Given the description of an element on the screen output the (x, y) to click on. 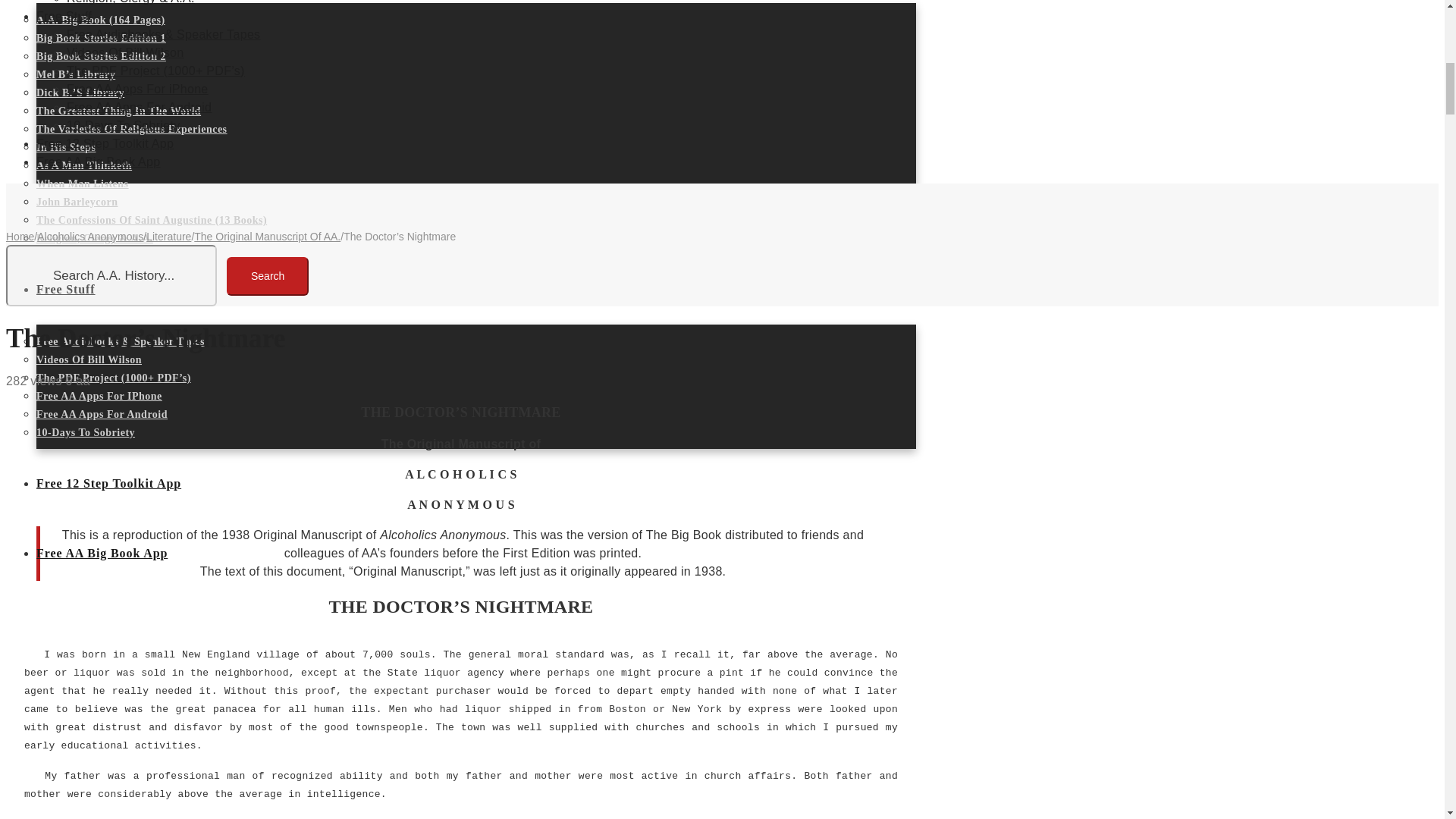
In His Steps (66, 147)
The Varieties Of Religious Experiences (131, 129)
Big Book Stories Edition 1 (100, 38)
Big Book Stories Edition 2 (100, 56)
Search (267, 275)
The Greatest Thing In The World (118, 111)
